Given the description of an element on the screen output the (x, y) to click on. 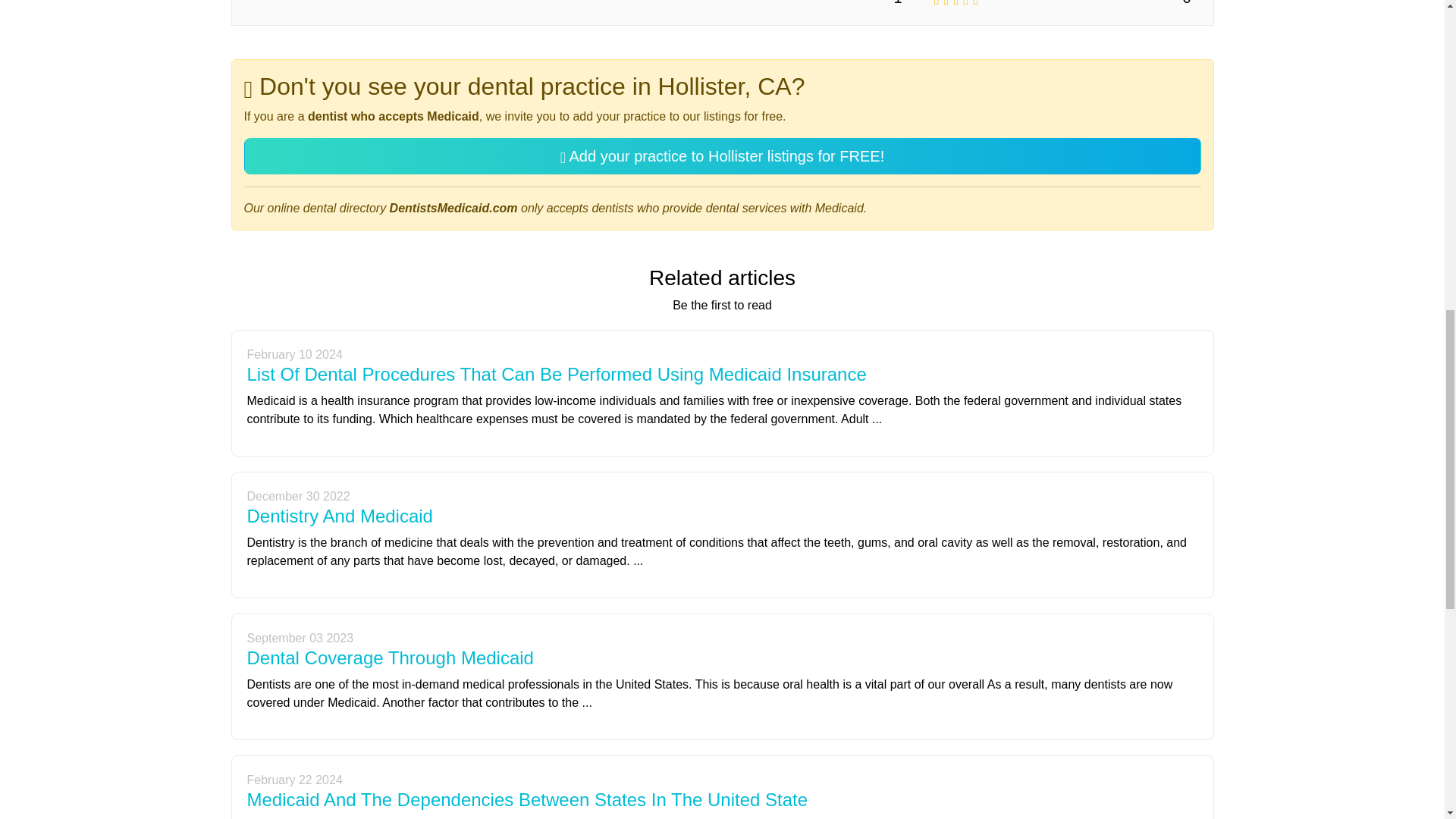
Dental Coverage Through Medicaid (390, 657)
Dentistry And Medicaid (339, 516)
Add your practice to Hollister listings for FREE! (722, 156)
